Given the description of an element on the screen output the (x, y) to click on. 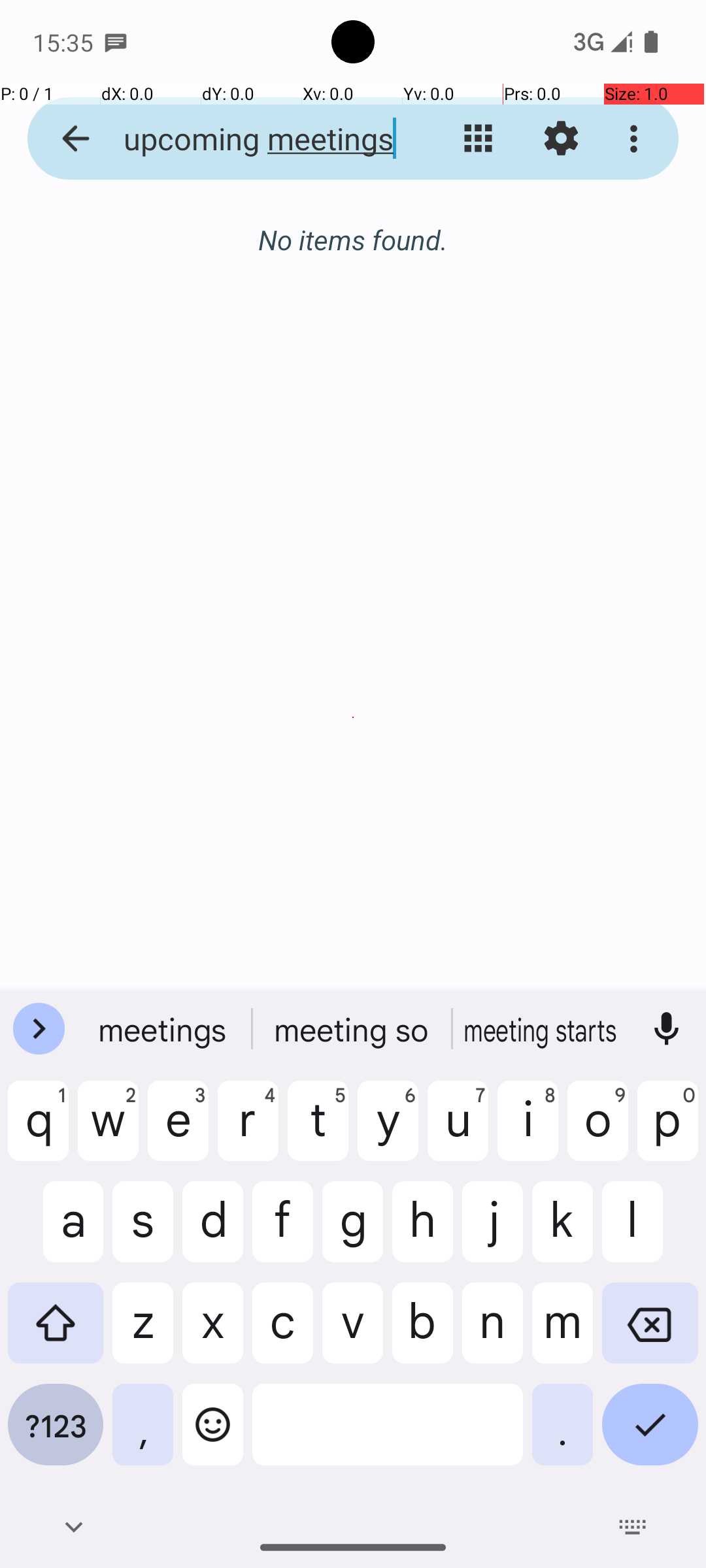
upcoming meetings Element type: android.widget.EditText (252, 138)
October 30 (Mon) Element type: android.widget.TextView (352, 253)
Meeting with Dr. Smith Element type: android.widget.TextView (373, 321)
23:20 (October 29) - 00:05 Element type: android.widget.TextView (207, 362)
We will strategize about team roles. Element type: android.widget.TextView (373, 397)
Appointment for Annual Report Element type: android.widget.TextView (373, 451)
03:54 - 04:09 Element type: android.widget.TextView (137, 491)
We will review team roles. Element type: android.widget.TextView (373, 526)
meetings Element type: android.widget.FrameLayout (163, 1028)
Meeting Element type: android.widget.FrameLayout (541, 1028)
